Given the description of an element on the screen output the (x, y) to click on. 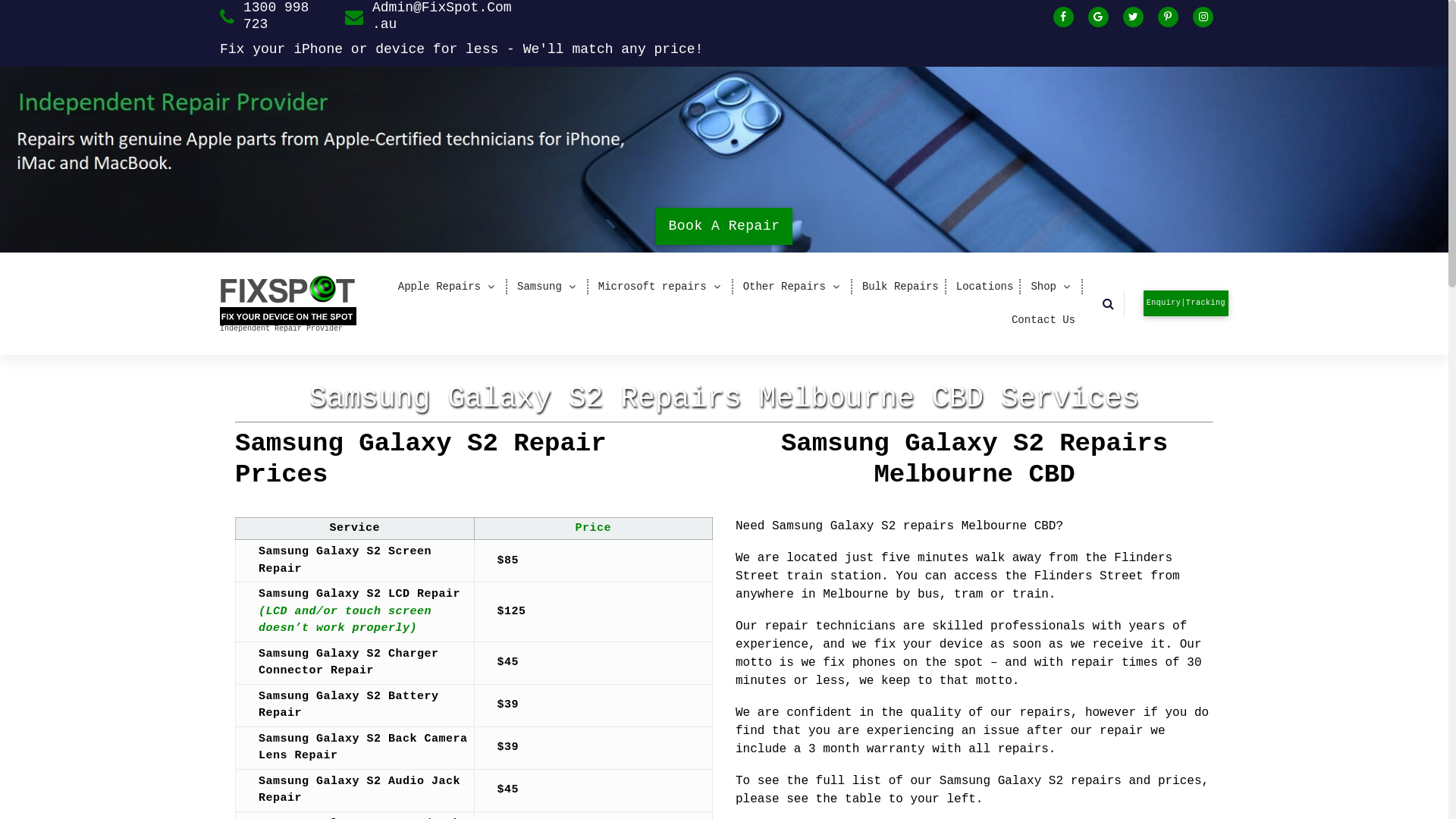
Other Repairs Element type: text (793, 286)
1300 998 723 Element type: text (286, 16)
Locations Element type: text (984, 286)
Admin@FixSpot.Com.au Element type: text (445, 16)
Microsoft repairs Element type: text (661, 286)
Bulk Repairs Element type: text (900, 286)
Shop Element type: text (1052, 286)
E
n
q
u
i
r
y
 |
 T
r
a
c
k
i
n
g Element type: text (1185, 303)
Samsung Element type: text (548, 286)
Contact Us Element type: text (1043, 319)
B
o
o
k
 A
 R
e
p
a
i
r Element type: text (723, 225)
Apple Repairs Element type: text (448, 286)
